Given the description of an element on the screen output the (x, y) to click on. 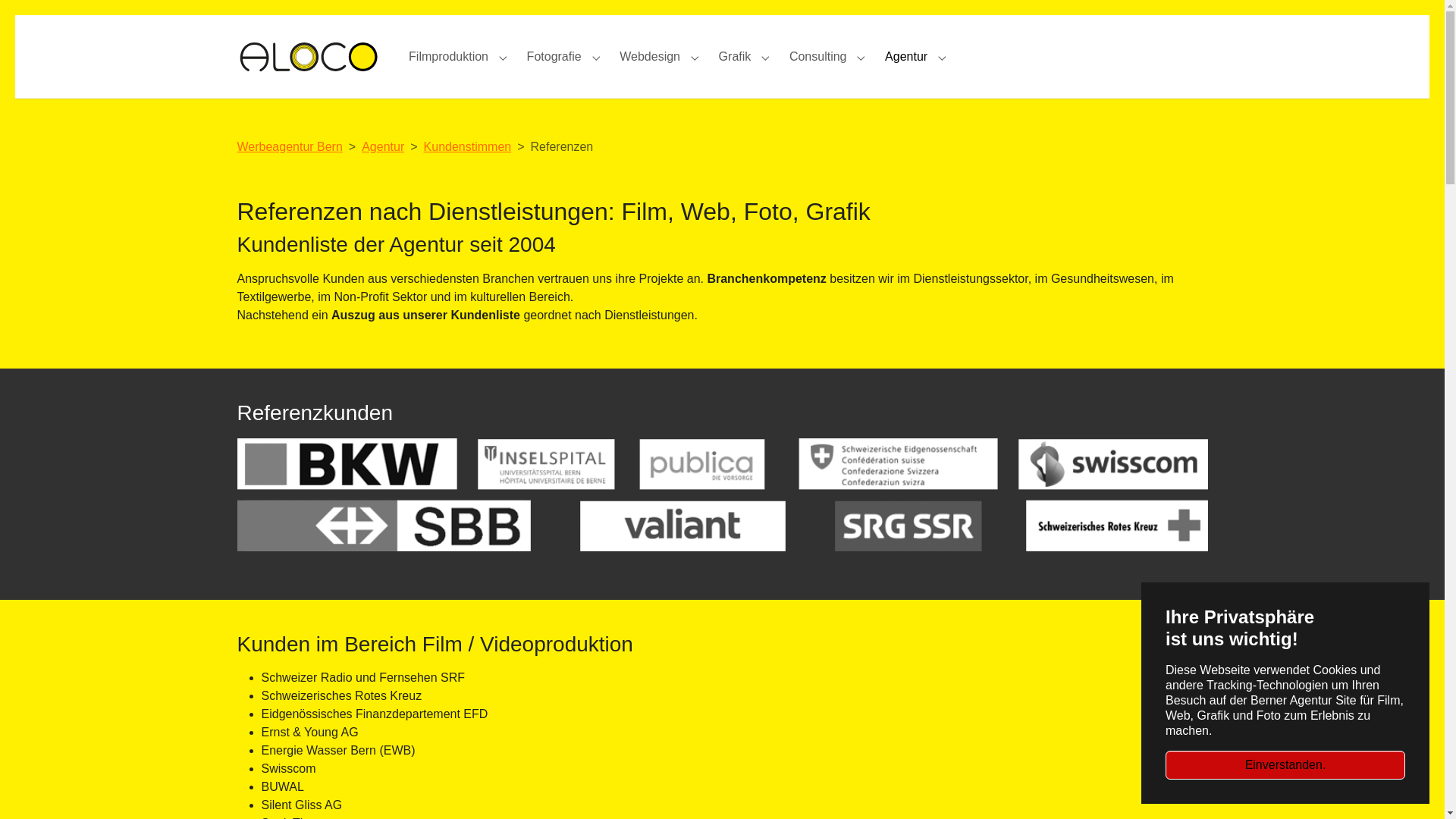
Kundenliste Agentur Bern Element type: hover (721, 502)
Agentur Element type: text (905, 56)
Filmproduktion Element type: text (448, 56)
Webdesign Element type: text (649, 56)
Werbeagentur Bern Element type: text (289, 146)
Submenu for "Fotografie" Element type: text (596, 56)
Fotografie Element type: text (553, 56)
Consulting Element type: text (818, 56)
Submenu for "Agentur" Element type: text (941, 56)
Agentur Element type: text (382, 146)
Kundenstimmen Element type: text (467, 146)
Submenu for "Grafik" Element type: text (765, 56)
Submenu for "Webdesign" Element type: text (694, 56)
Grafik Element type: text (734, 56)
Einverstanden. Element type: text (1285, 764)
Submenu for "Filmproduktion" Element type: text (502, 56)
Home Werbeagentur Bern Element type: hover (307, 56)
Submenu for "Consulting" Element type: text (860, 56)
